Given the description of an element on the screen output the (x, y) to click on. 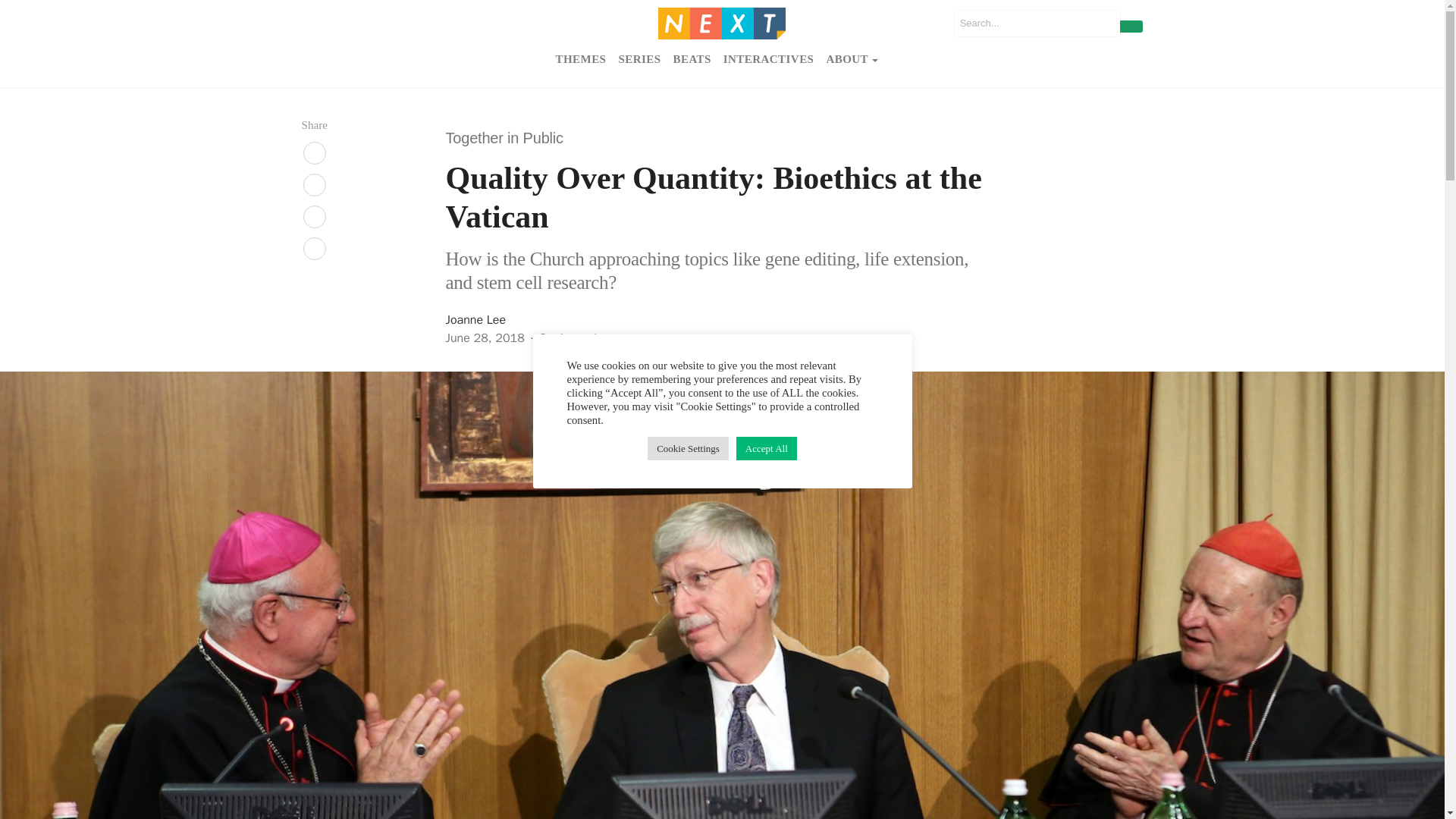
INTERACTIVES (769, 59)
SERIES (638, 59)
THEMES (579, 59)
Joanne Lee (475, 319)
BEATS (691, 59)
ABOUT (851, 59)
Search for: (1037, 22)
